Given the description of an element on the screen output the (x, y) to click on. 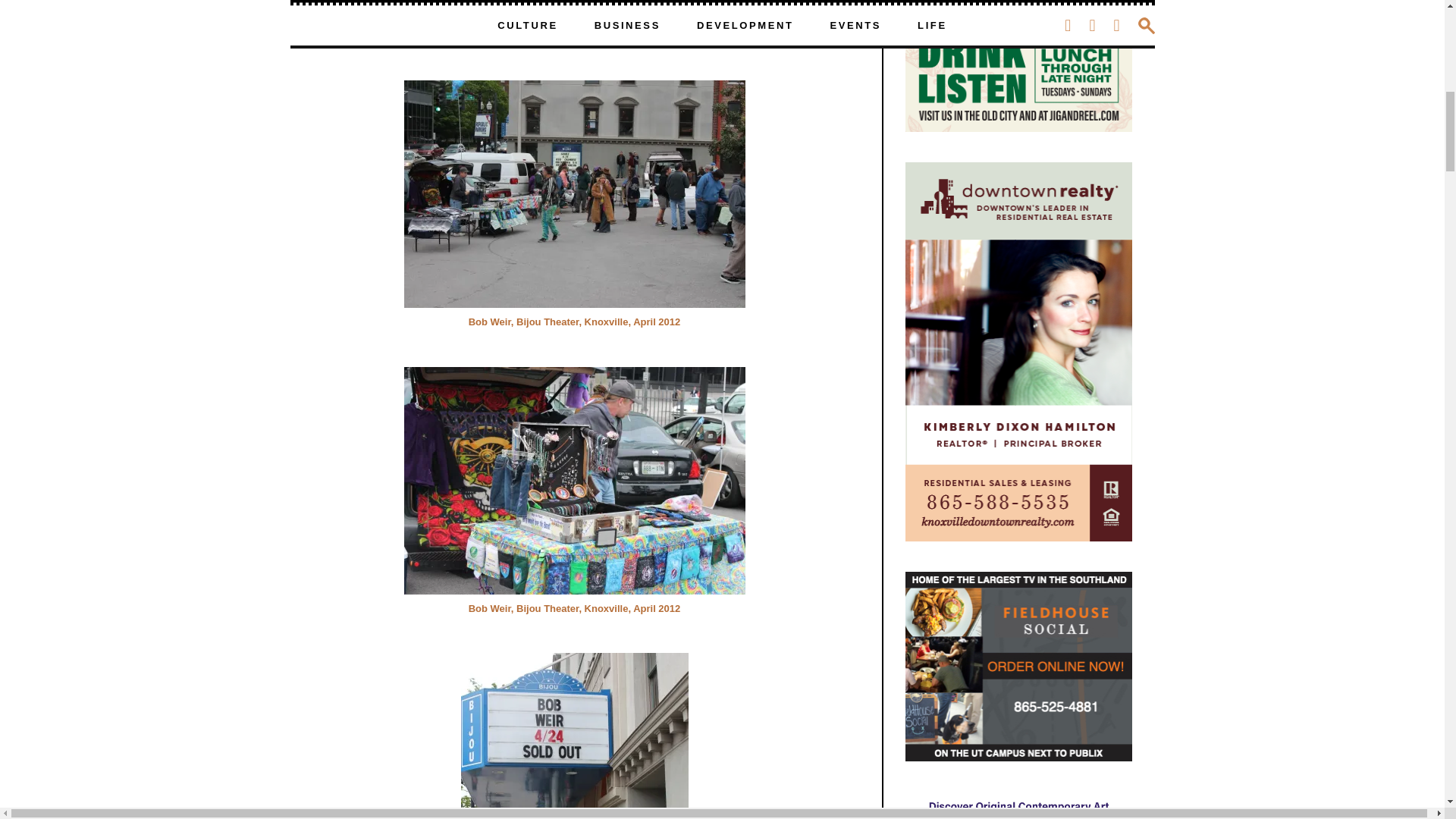
Bob Weir3, Bijou Theater, Knoxville, April 2012 (574, 735)
Bob Weir, Bijou Theater, Knoxville, April 2012 (573, 193)
Bob Weir2, Bijou Theater, Knoxville, April 2012 (573, 480)
